Given the description of an element on the screen output the (x, y) to click on. 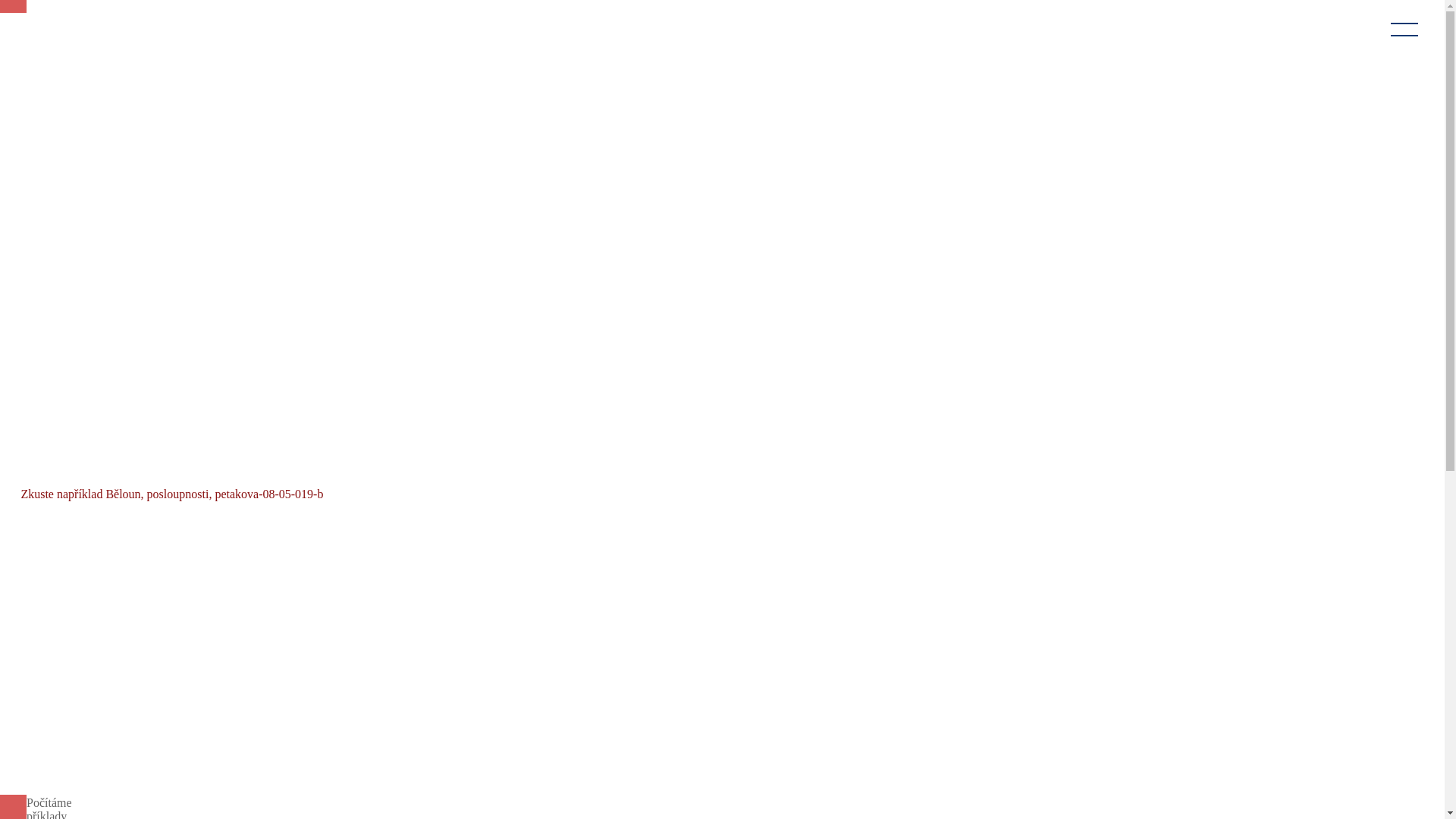
VYHLEDAT Element type: text (294, 453)
